Given the description of an element on the screen output the (x, y) to click on. 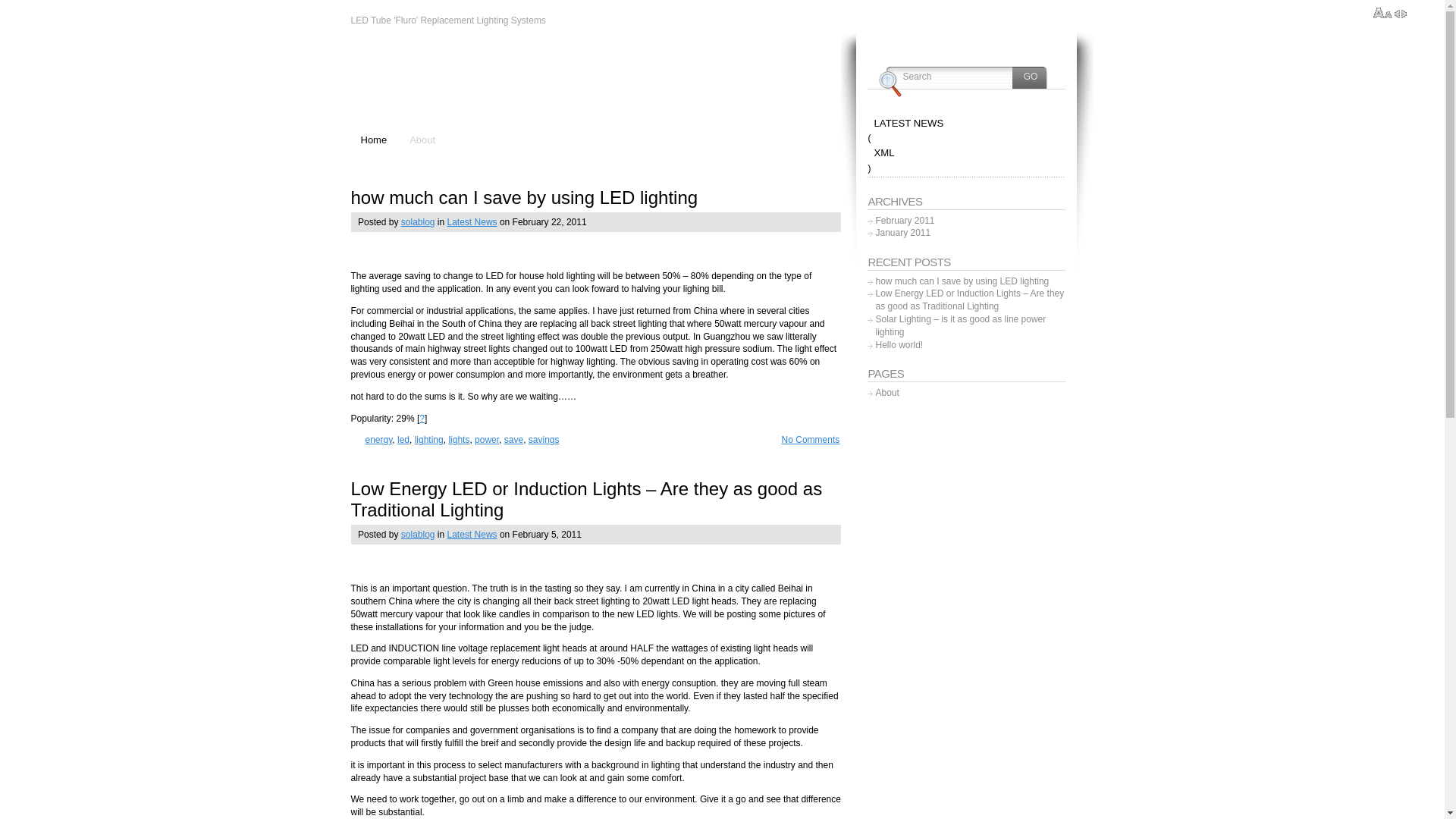
energy Element type: text (378, 439)
Latest News Element type: text (472, 534)
how much can I save by using LED lighting Element type: text (961, 281)
lights Element type: text (458, 439)
Latest News Element type: text (472, 221)
No Comments Element type: text (804, 439)
Home Element type: text (373, 140)
LATEST NEWS Element type: text (966, 123)
how much can I save by using LED lighting Element type: text (523, 197)
January 2011 Element type: text (902, 232)
February 2011 Element type: text (904, 220)
lighting Element type: text (428, 439)
solablog Element type: text (418, 221)
About Element type: text (422, 140)
power Element type: text (486, 439)
Go Element type: text (1030, 76)
About Element type: text (886, 392)
led Element type: text (403, 439)
Hello world! Element type: text (898, 344)
XML Element type: text (966, 153)
Switch between full and fixed width Element type: hover (1400, 13)
LED Solar Lighting BLOG Element type: text (517, 81)
solablog Element type: text (418, 534)
Increase/Decrease text size Element type: hover (1382, 13)
? Element type: text (421, 418)
save Element type: text (513, 439)
savings Element type: text (543, 439)
